Given the description of an element on the screen output the (x, y) to click on. 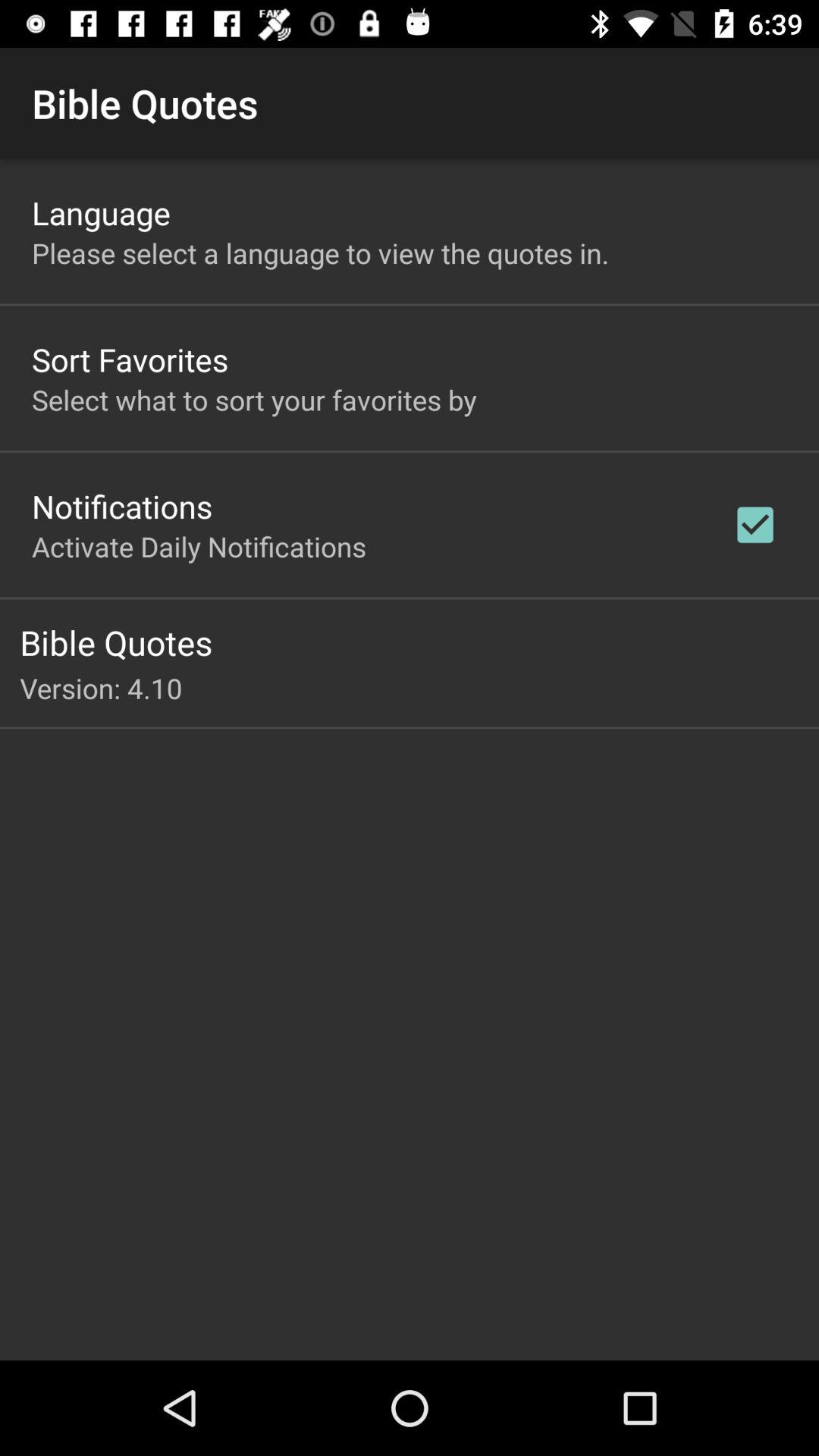
click the icon above bible quotes icon (198, 546)
